Given the description of an element on the screen output the (x, y) to click on. 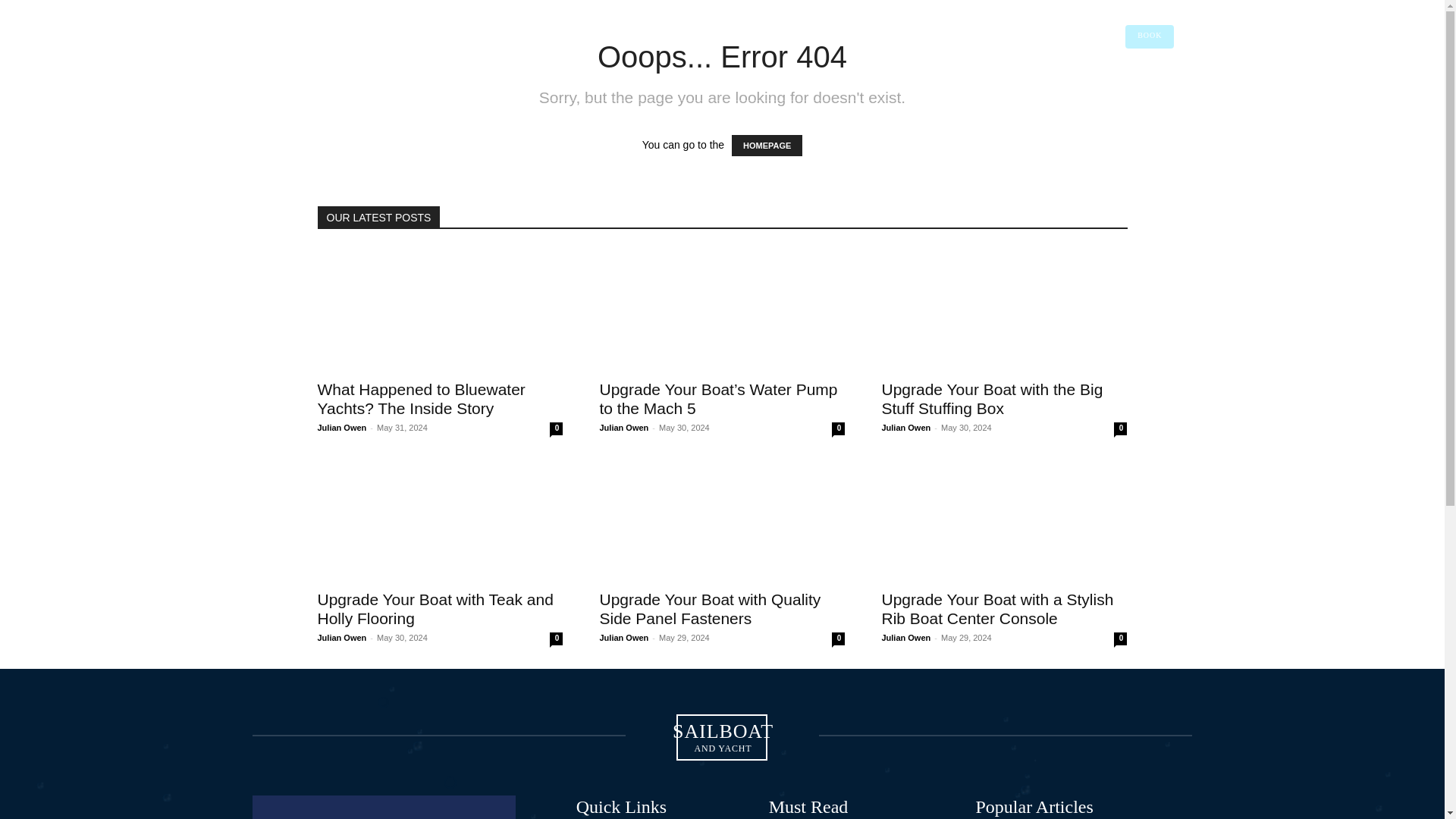
Luxury Yachts (568, 17)
Yacht World (331, 31)
Blog (427, 17)
Upgrade Your Boat with the Big Stuff Stuffing Box (682, 17)
Instagram (1003, 309)
Youtube (1121, 82)
BLOG (1168, 82)
YACHT WORLD (827, 83)
What Happened to Bluewater Yachts? The Inside Story (443, 83)
Sailing Tips (420, 398)
Facebook (634, 17)
Sailboat Guide (1097, 82)
SAILBOAT GUIDE (496, 17)
Twitter (547, 83)
